Given the description of an element on the screen output the (x, y) to click on. 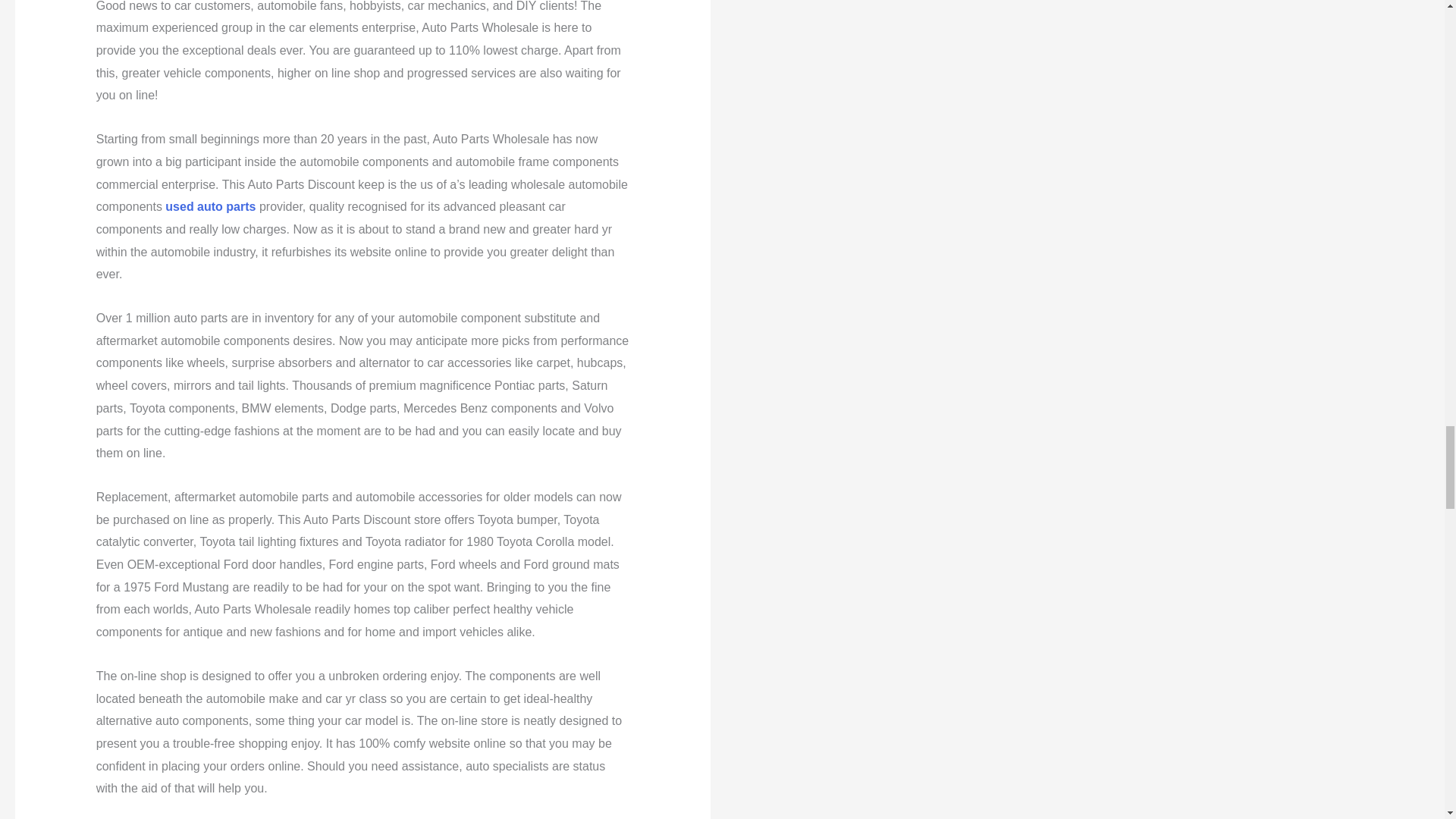
used auto parts (210, 205)
